Given the description of an element on the screen output the (x, y) to click on. 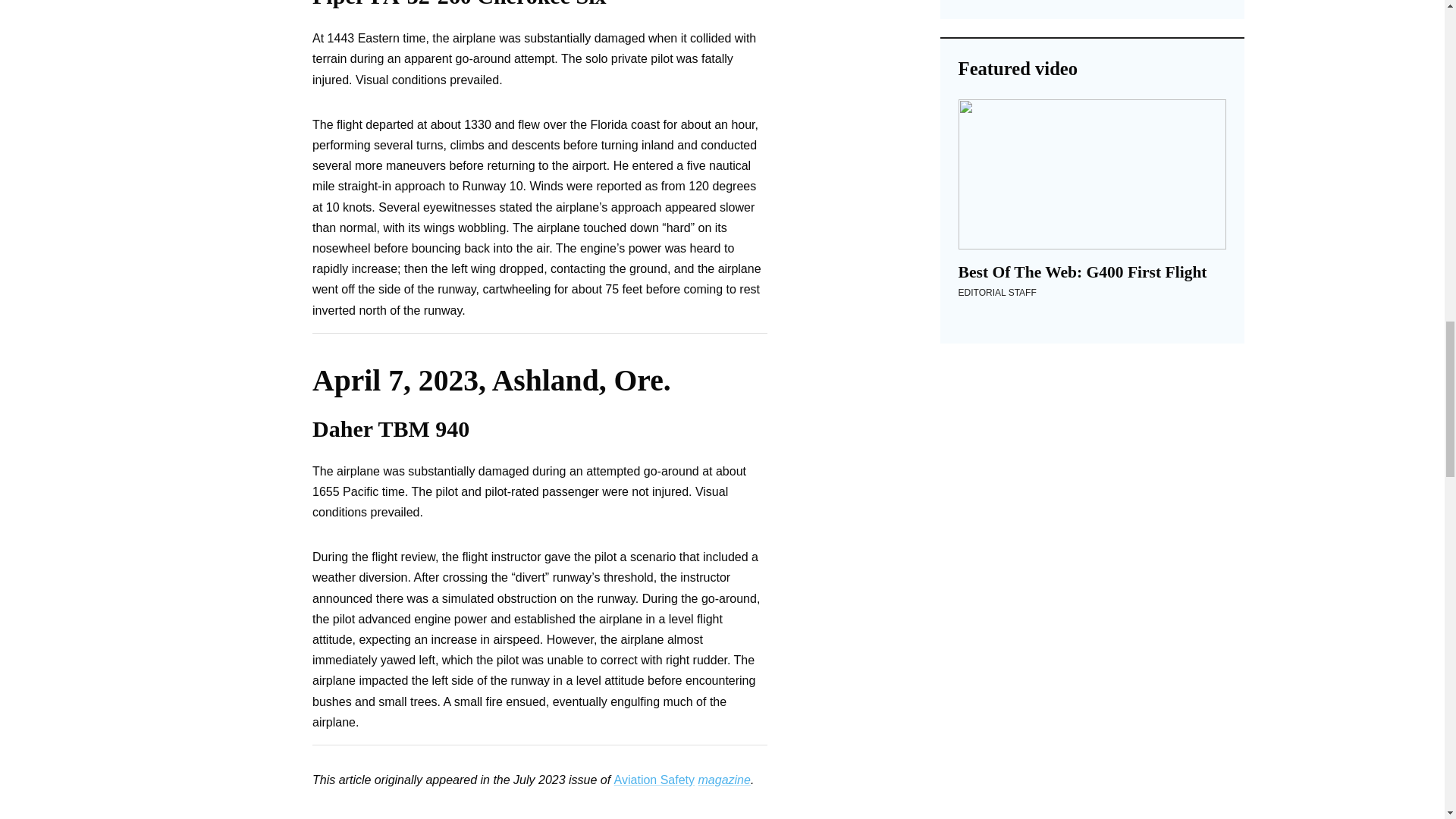
Best Of The Web: G400 First Flight (1091, 174)
Aviation Safety (654, 779)
magazine (723, 779)
subscribe to (520, 818)
